Given the description of an element on the screen output the (x, y) to click on. 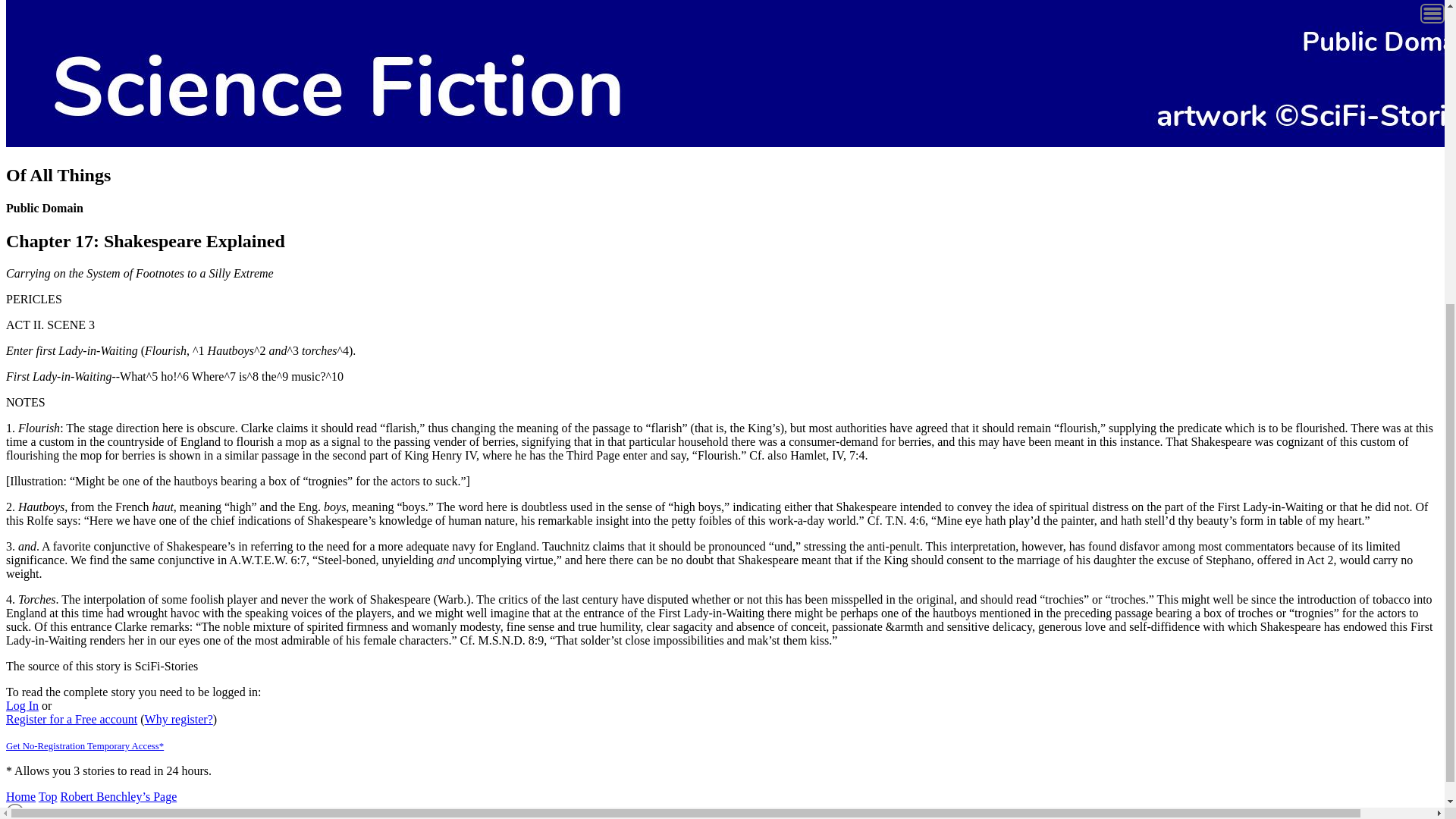
Log In (22, 705)
Home (19, 796)
Why register? (178, 718)
Register for a Free account (70, 718)
Top (48, 796)
